Given the description of an element on the screen output the (x, y) to click on. 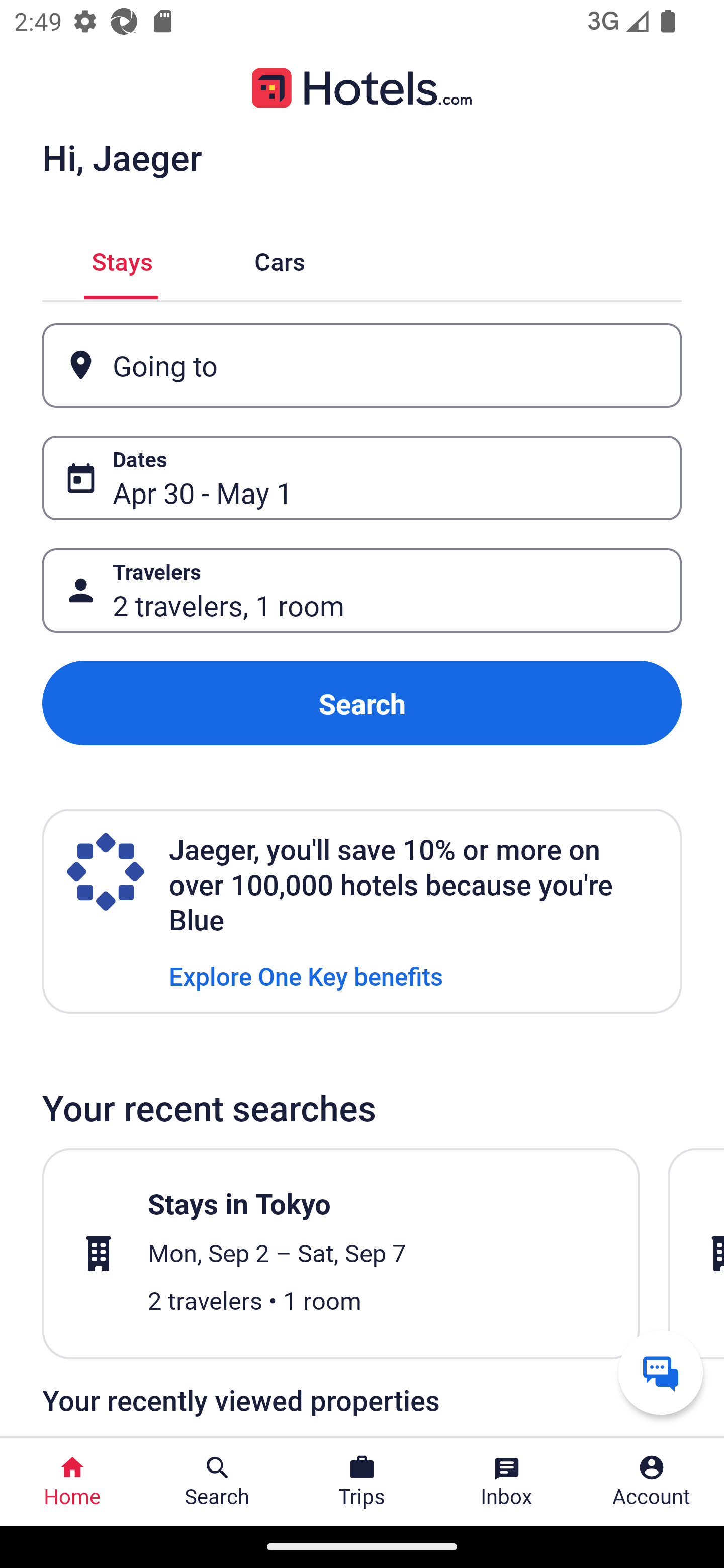
Hi, Jaeger (121, 156)
Cars (279, 259)
Going to Button (361, 365)
Dates Button Apr 30 - May 1 (361, 477)
Travelers Button 2 travelers, 1 room (361, 590)
Search (361, 702)
Get help from a virtual agent (660, 1371)
Search Search Button (216, 1481)
Trips Trips Button (361, 1481)
Inbox Inbox Button (506, 1481)
Account Profile. Button (651, 1481)
